Given the description of an element on the screen output the (x, y) to click on. 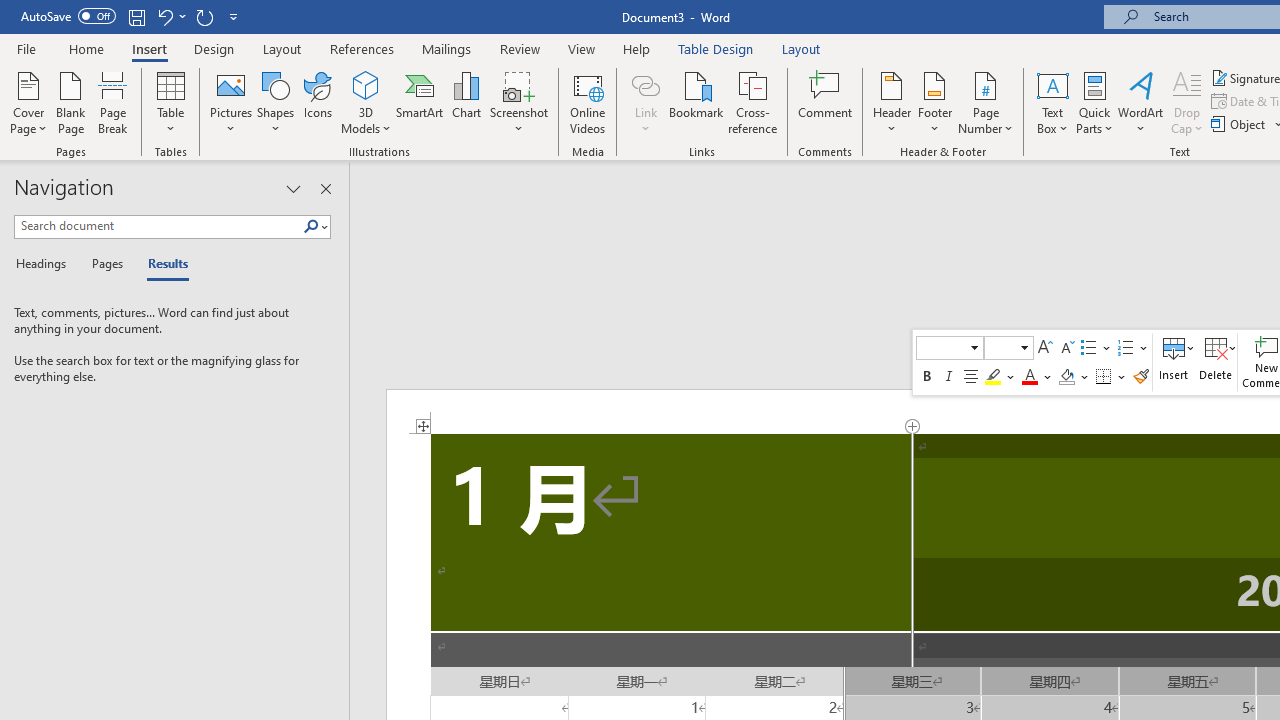
SmartArt... (419, 102)
Bookmark... (695, 102)
Chart... (466, 102)
Grow Font (1045, 348)
Repeat Doc Close (204, 15)
Object... (1240, 124)
Link (645, 84)
Center (970, 376)
WordArt (1141, 102)
